Given the description of an element on the screen output the (x, y) to click on. 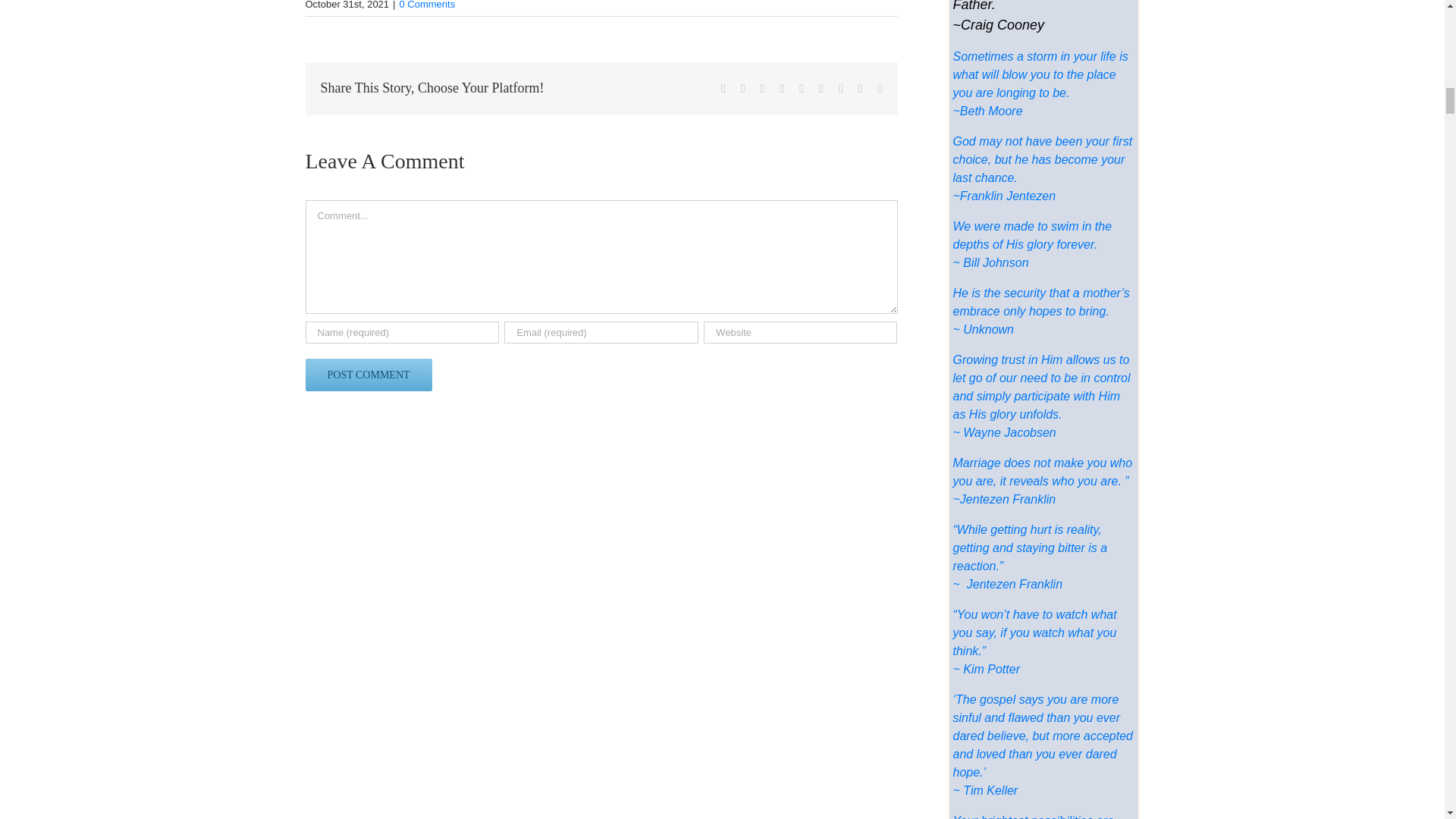
Post Comment (367, 374)
Post Comment (367, 374)
0 Comments (426, 4)
